Given the description of an element on the screen output the (x, y) to click on. 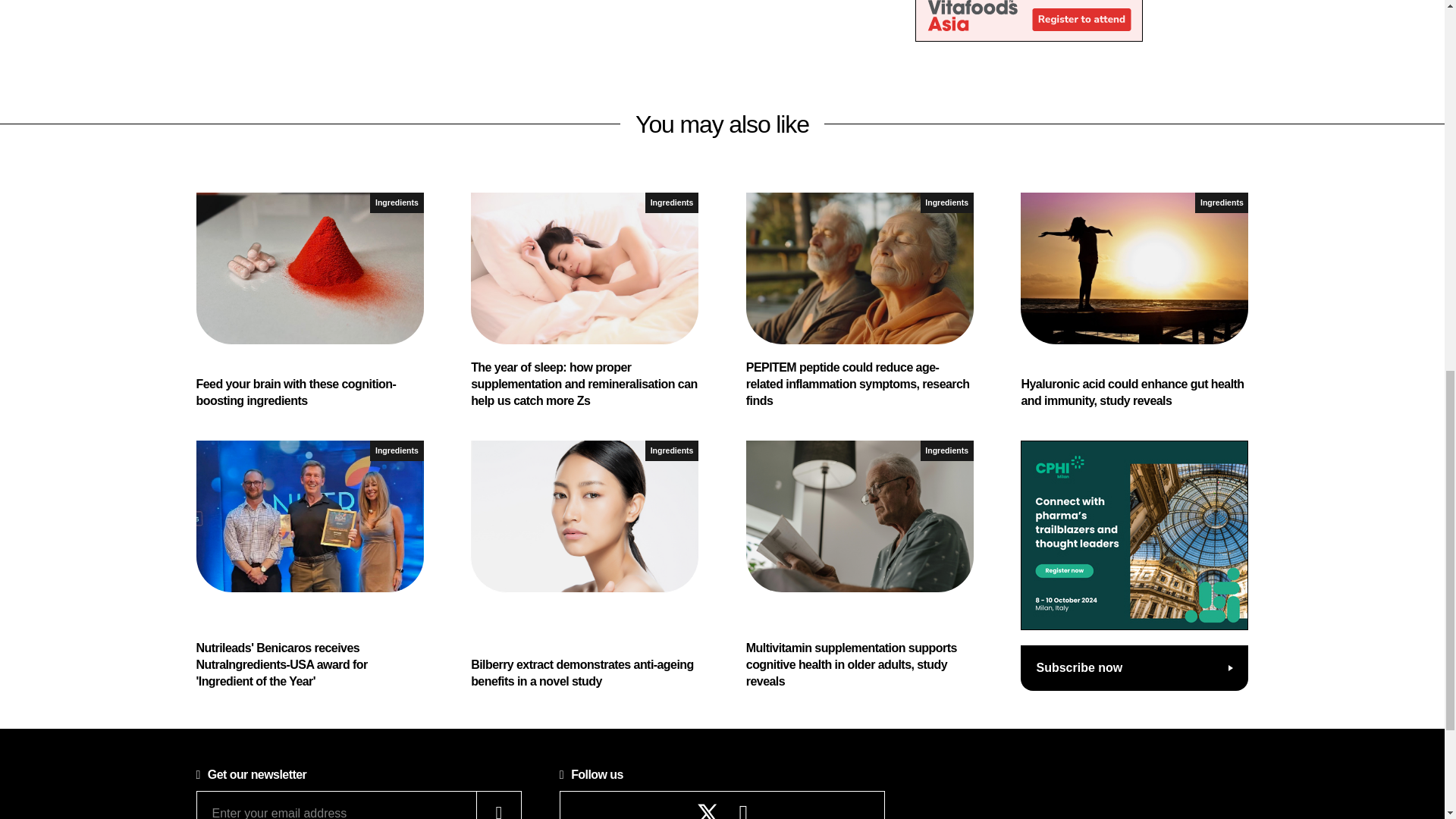
Follow Nutraceutical Business Review on X (708, 810)
Ingredients (947, 450)
Ingredients (947, 202)
Follow Nutraceutical Business Review on LinkedIn (743, 815)
Ingredients (396, 450)
Ingredients (671, 202)
Ingredients (396, 202)
Ingredients (1221, 202)
Feed your brain with these cognition-boosting ingredients (309, 301)
